Given the description of an element on the screen output the (x, y) to click on. 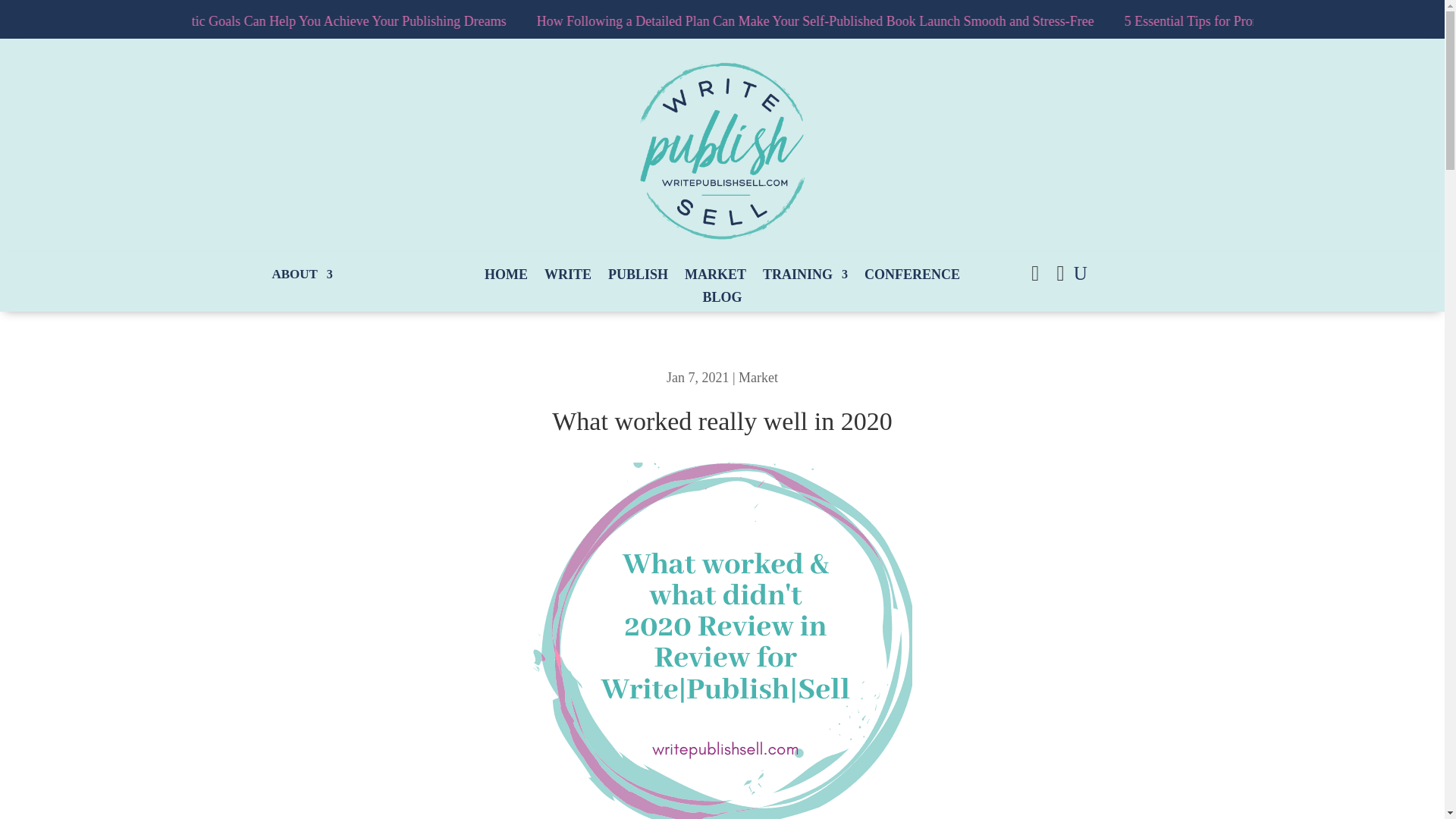
Logo (722, 150)
